Given the description of an element on the screen output the (x, y) to click on. 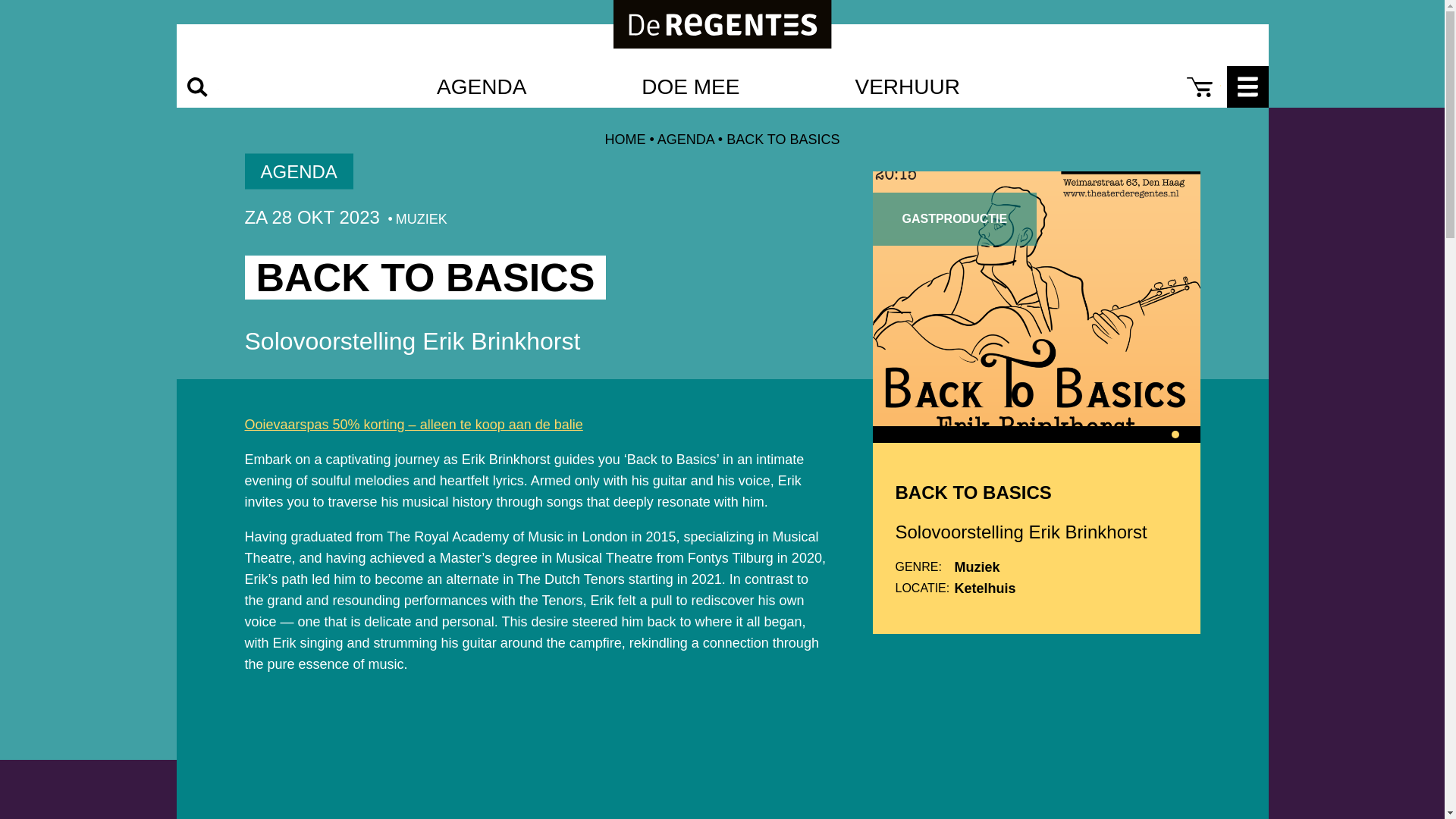
HOME (624, 139)
AGENDA (480, 86)
CART (1198, 86)
Menu (1247, 86)
Zoek (17, 7)
Back To Basics: Paving the Way for a Solo Performance (535, 753)
AGENDA (686, 139)
Zoek (196, 86)
VERHUUR (906, 86)
DOE MEE (690, 86)
